Given the description of an element on the screen output the (x, y) to click on. 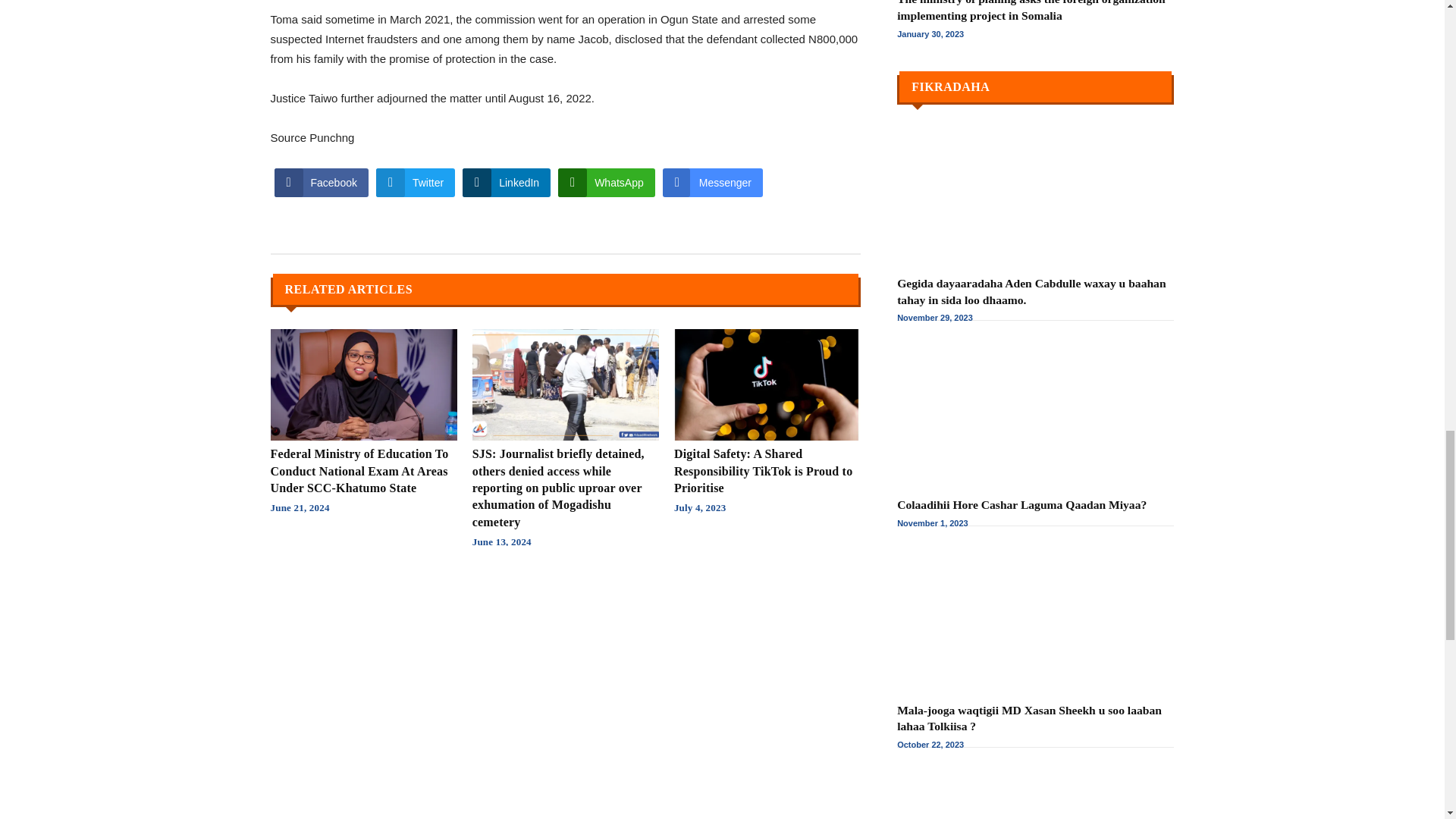
Facebook (321, 182)
Twitter (414, 182)
